Given the description of an element on the screen output the (x, y) to click on. 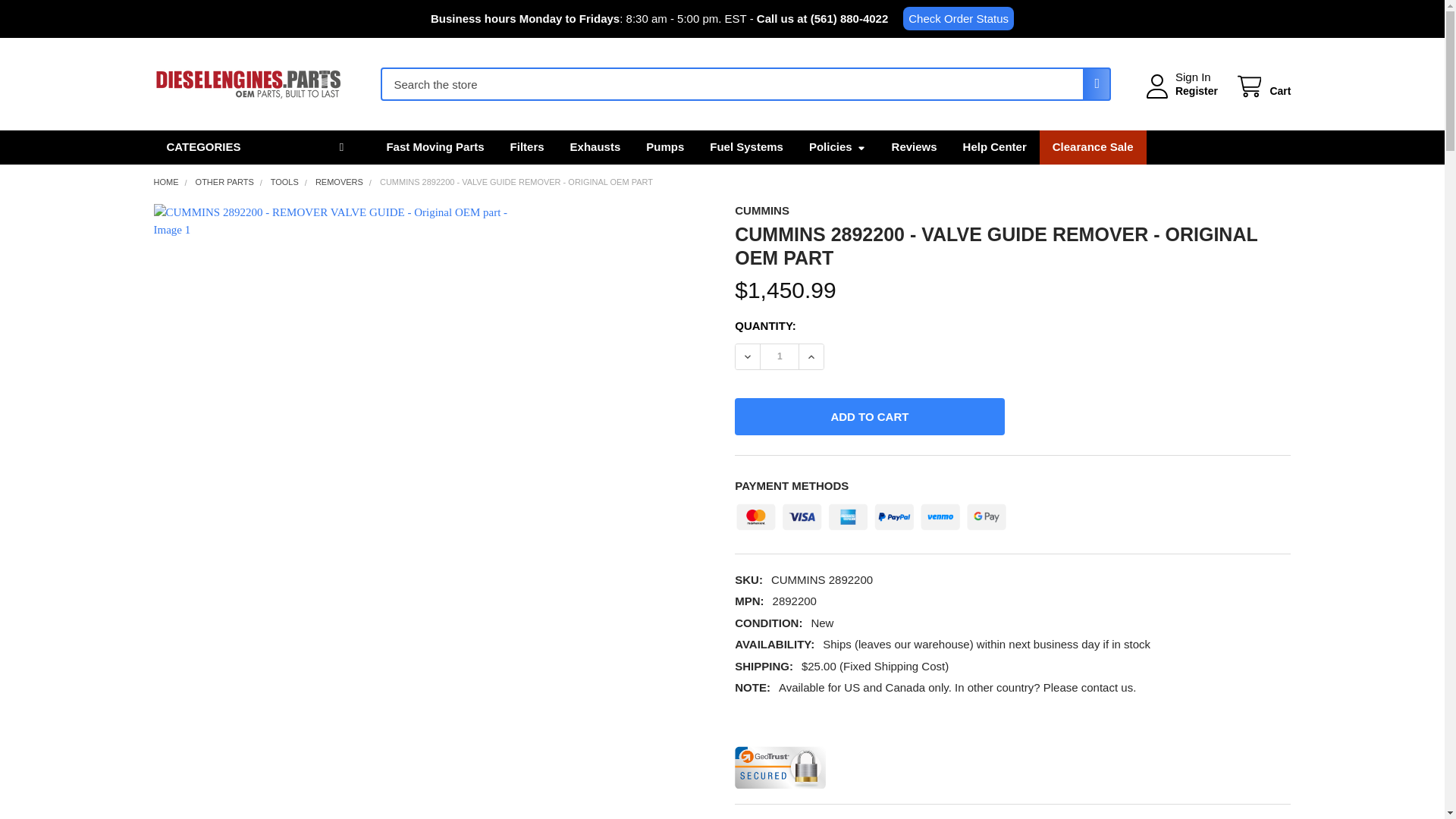
Check Order Status (957, 18)
Register (1195, 91)
GeoTrust Secured (780, 767)
Add to Cart (869, 416)
Search (1092, 83)
Cart (1262, 86)
CATEGORIES (255, 146)
Sign In (1192, 77)
Search (1092, 83)
Cart (1262, 86)
DIESELENGINES PARTS (247, 84)
1 (778, 356)
Payment Methods (871, 513)
